Given the description of an element on the screen output the (x, y) to click on. 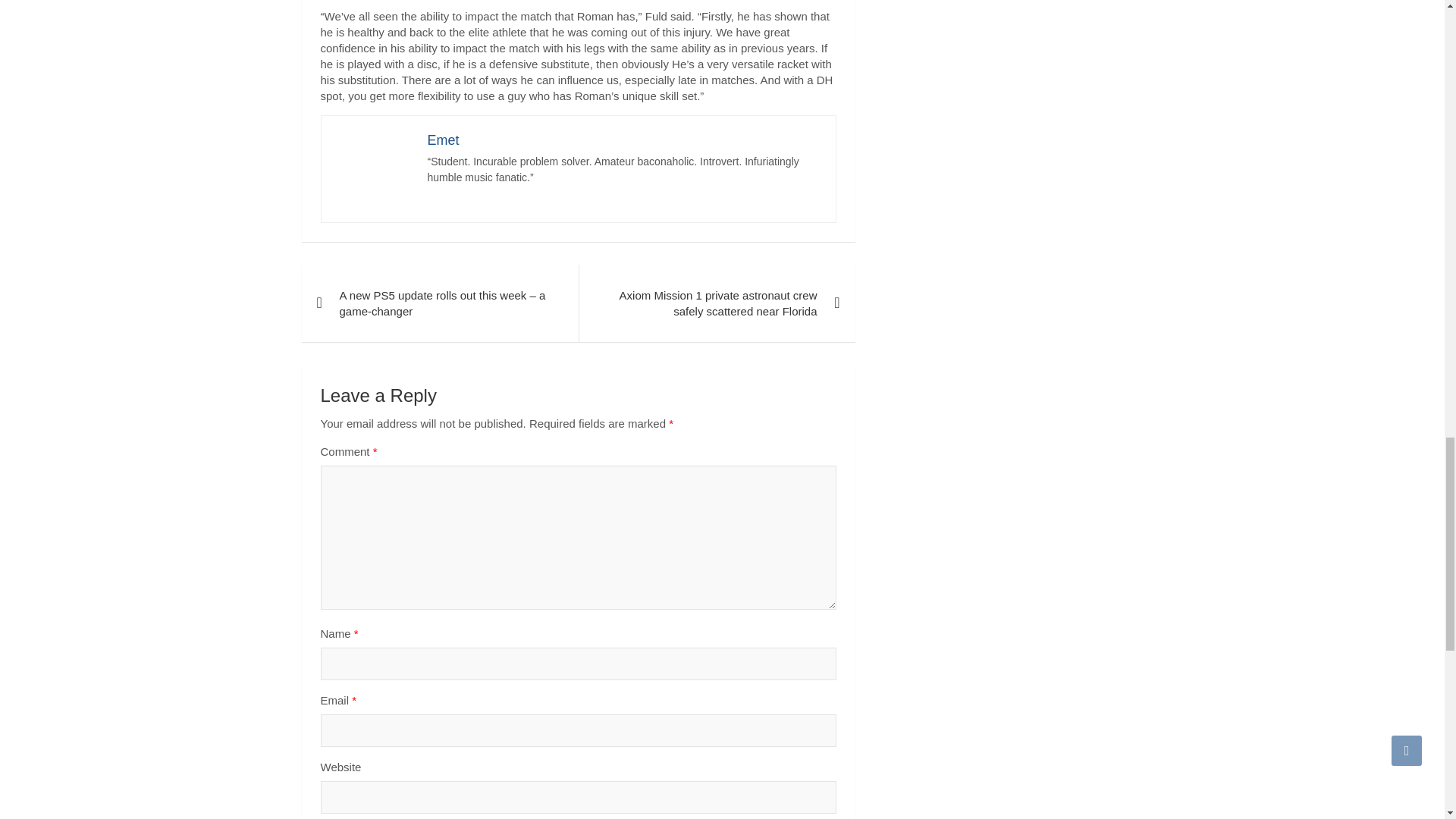
Emet (444, 140)
